Given the description of an element on the screen output the (x, y) to click on. 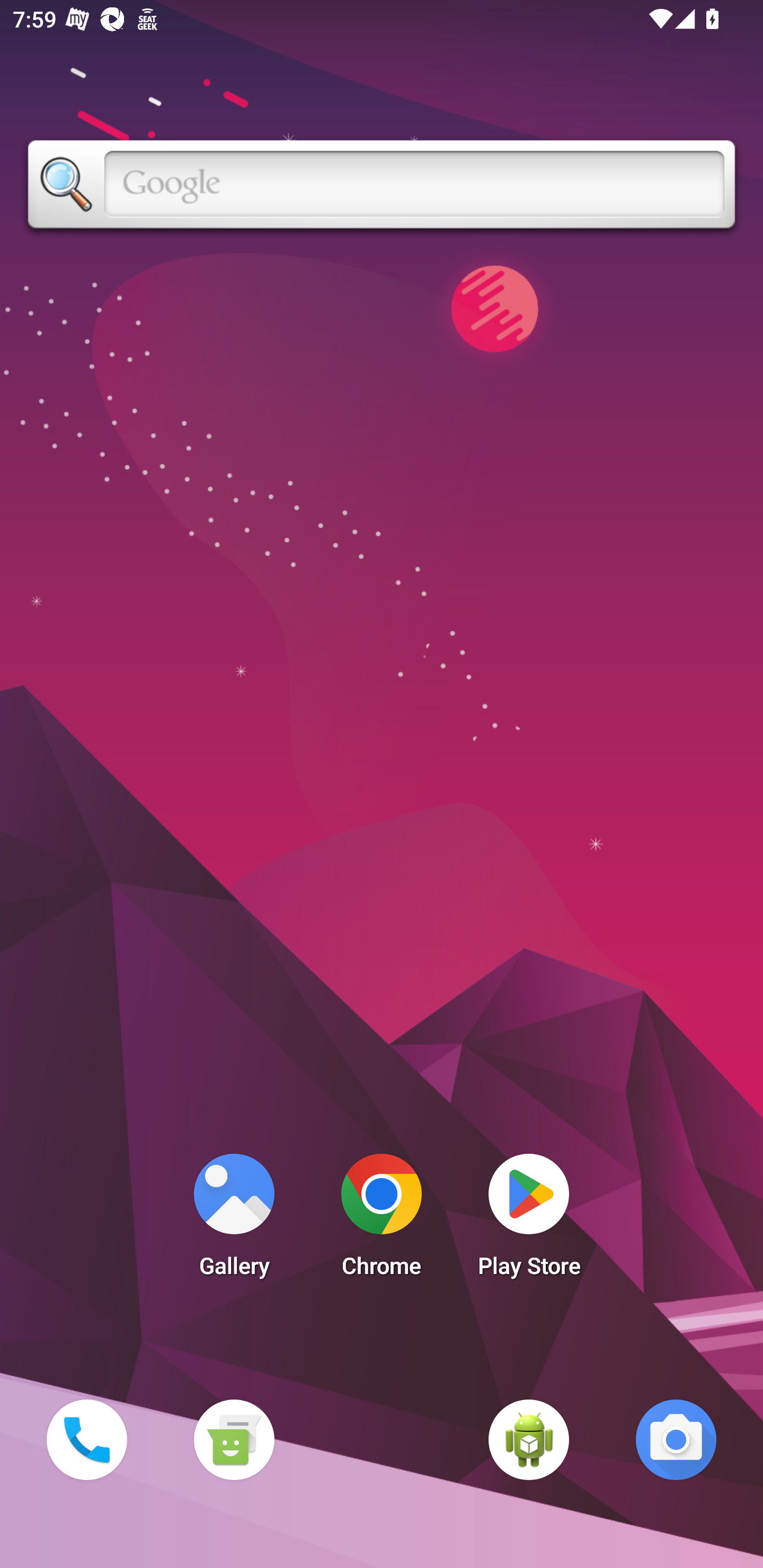
Gallery (233, 1220)
Chrome (381, 1220)
Play Store (528, 1220)
Phone (86, 1439)
Messaging (233, 1439)
WebView Browser Tester (528, 1439)
Camera (676, 1439)
